Given the description of an element on the screen output the (x, y) to click on. 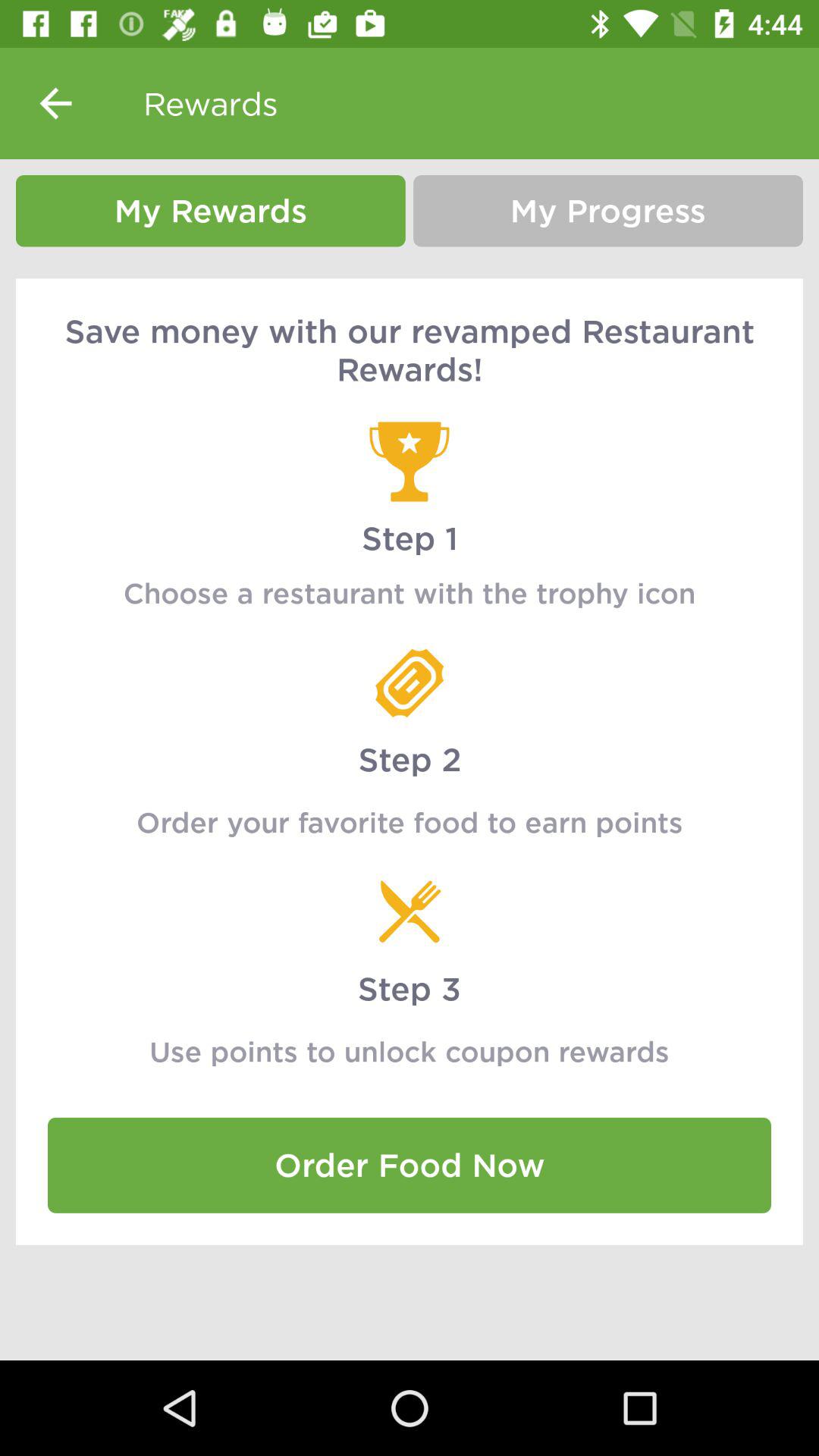
launch the icon above save money with item (608, 210)
